Given the description of an element on the screen output the (x, y) to click on. 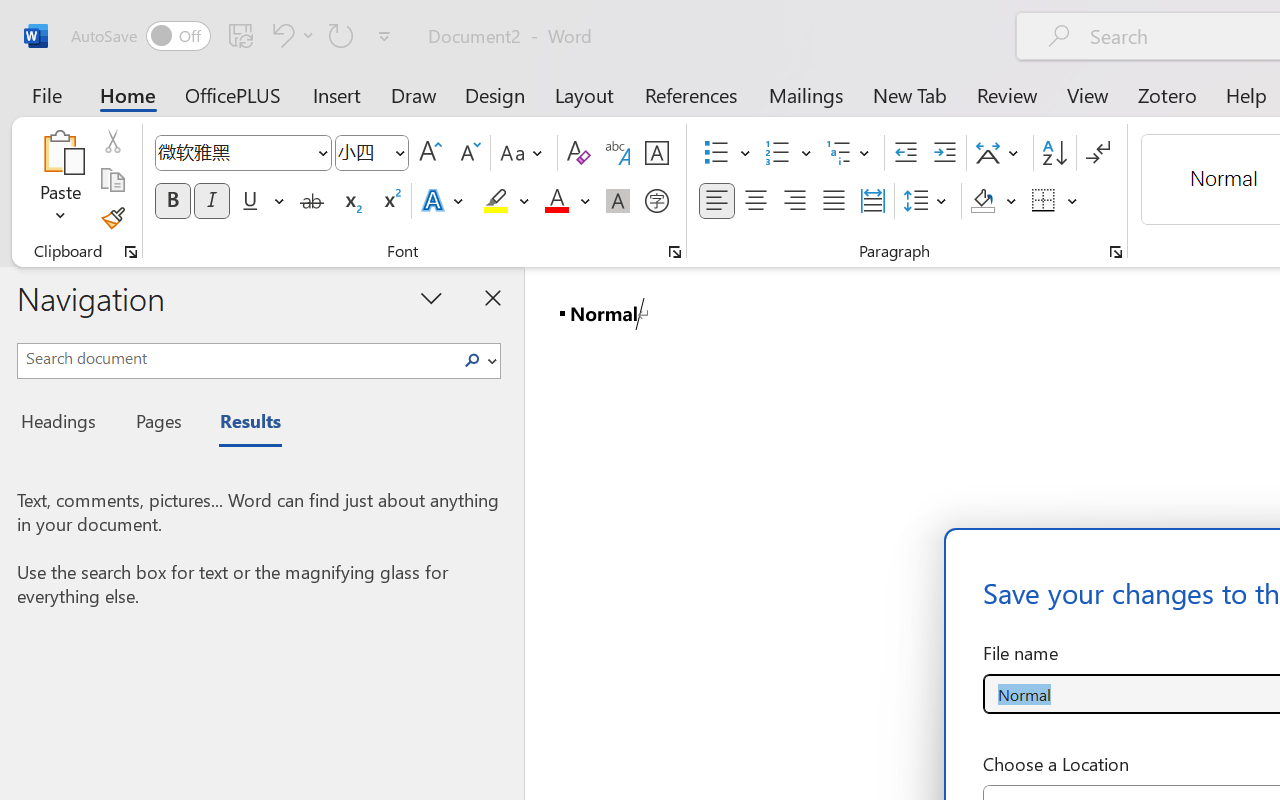
Center (756, 201)
Change Case (524, 153)
Sort... (1054, 153)
Justify (834, 201)
Clear Formatting (578, 153)
Multilevel List (850, 153)
Class: NetUIImage (471, 360)
Undo Style (280, 35)
Text Effects and Typography (444, 201)
